Given the description of an element on the screen output the (x, y) to click on. 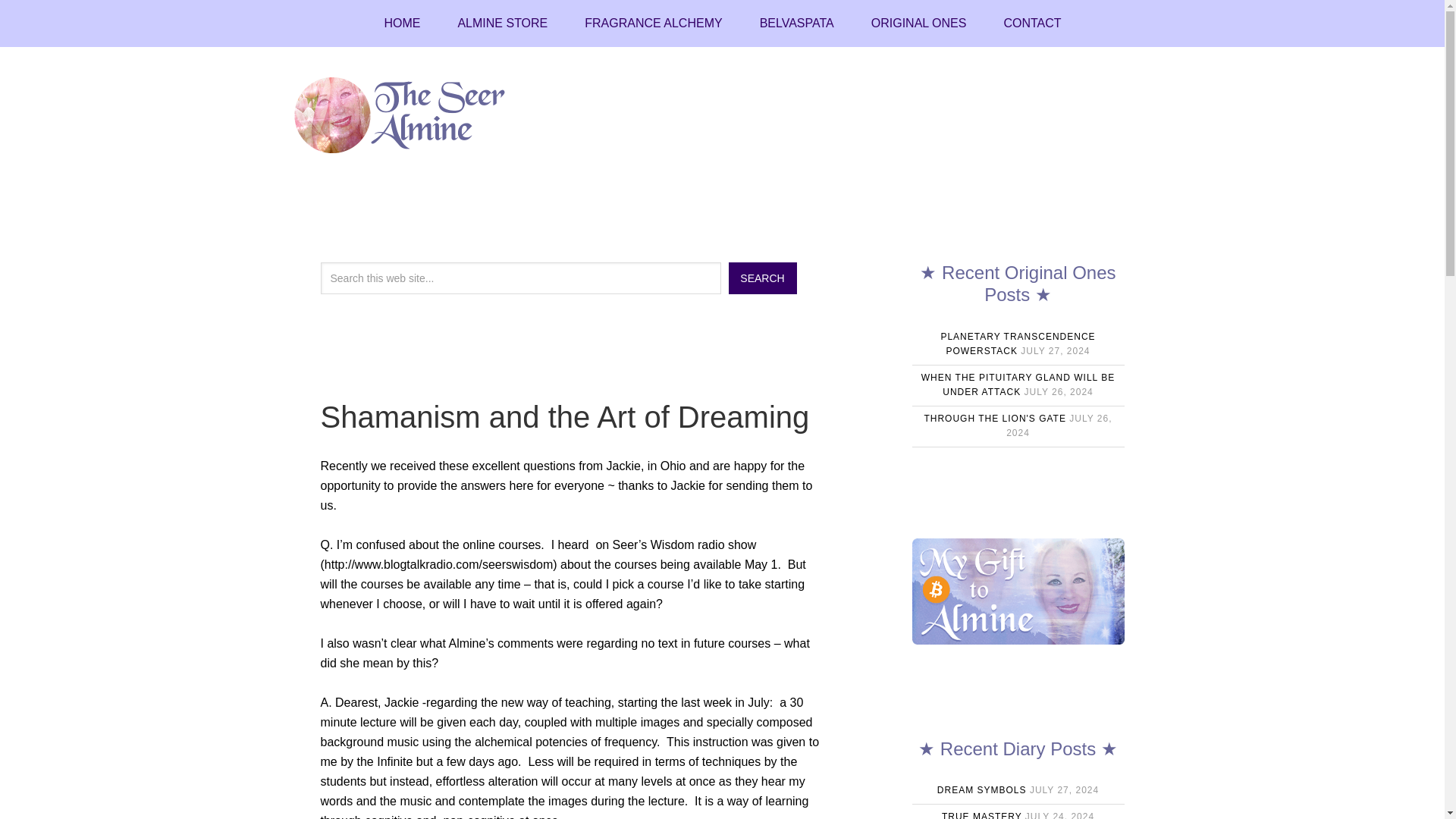
ALMINE STORE (502, 23)
BELVASPATA (796, 23)
WHEN THE PITUITARY GLAND WILL BE UNDER ATTACK (1018, 385)
Go to the Diary home page (401, 23)
DREAM SYMBOLS (981, 789)
Search (762, 278)
Search (762, 278)
FRAGRANCE ALCHEMY (652, 23)
Search (762, 278)
CONTACT (1031, 23)
ORIGINAL ONES (918, 23)
ALMINE (410, 114)
PLANETARY TRANSCENDENCE POWERSTACK (1017, 344)
HOME (401, 23)
TRUE MASTERY (982, 815)
